Given the description of an element on the screen output the (x, y) to click on. 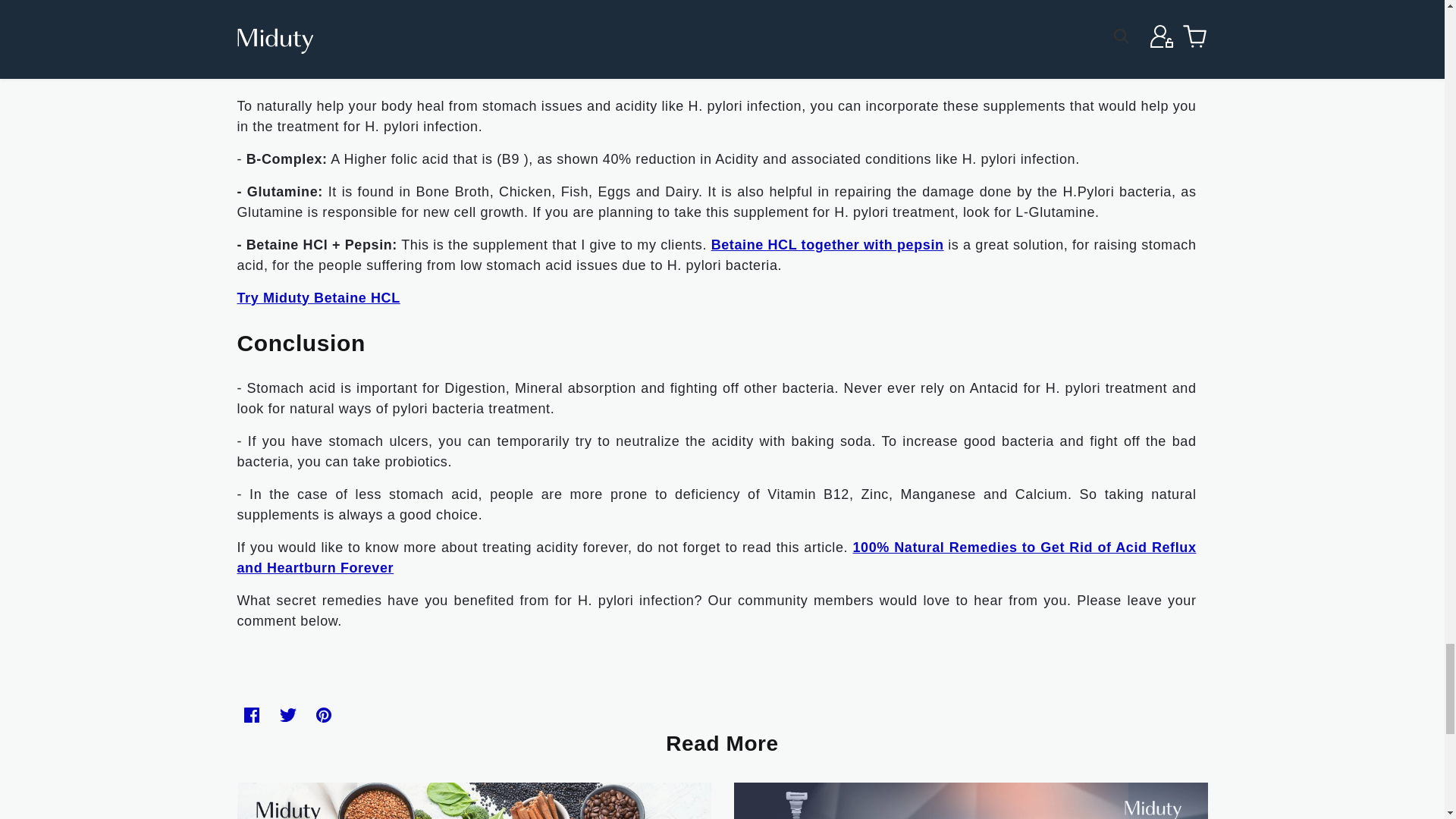
Try Miduty Betaine HCL (316, 296)
Betaine HCL together with pepsin (827, 243)
